Given the description of an element on the screen output the (x, y) to click on. 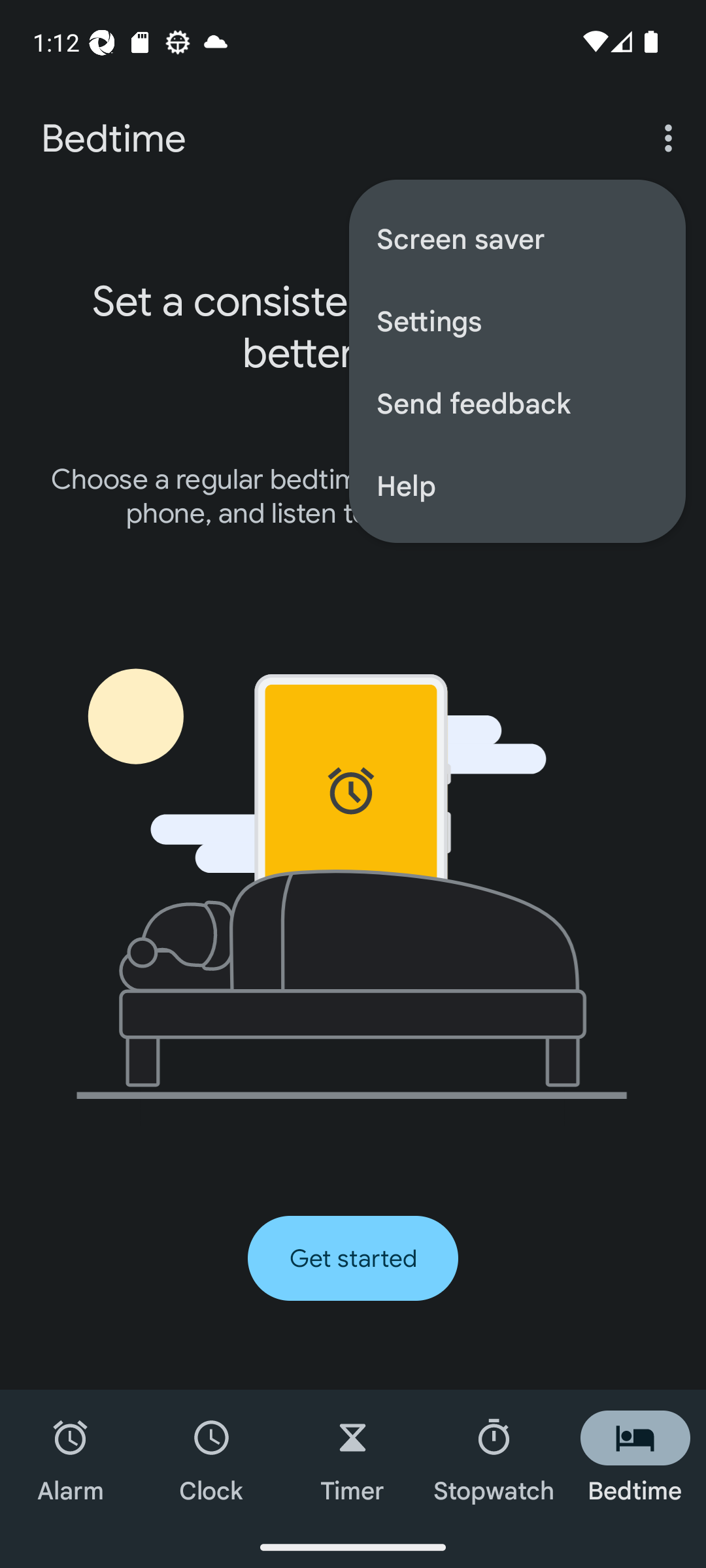
Screen saver (516, 237)
Settings (516, 319)
Send feedback (516, 401)
Help (516, 484)
